Given the description of an element on the screen output the (x, y) to click on. 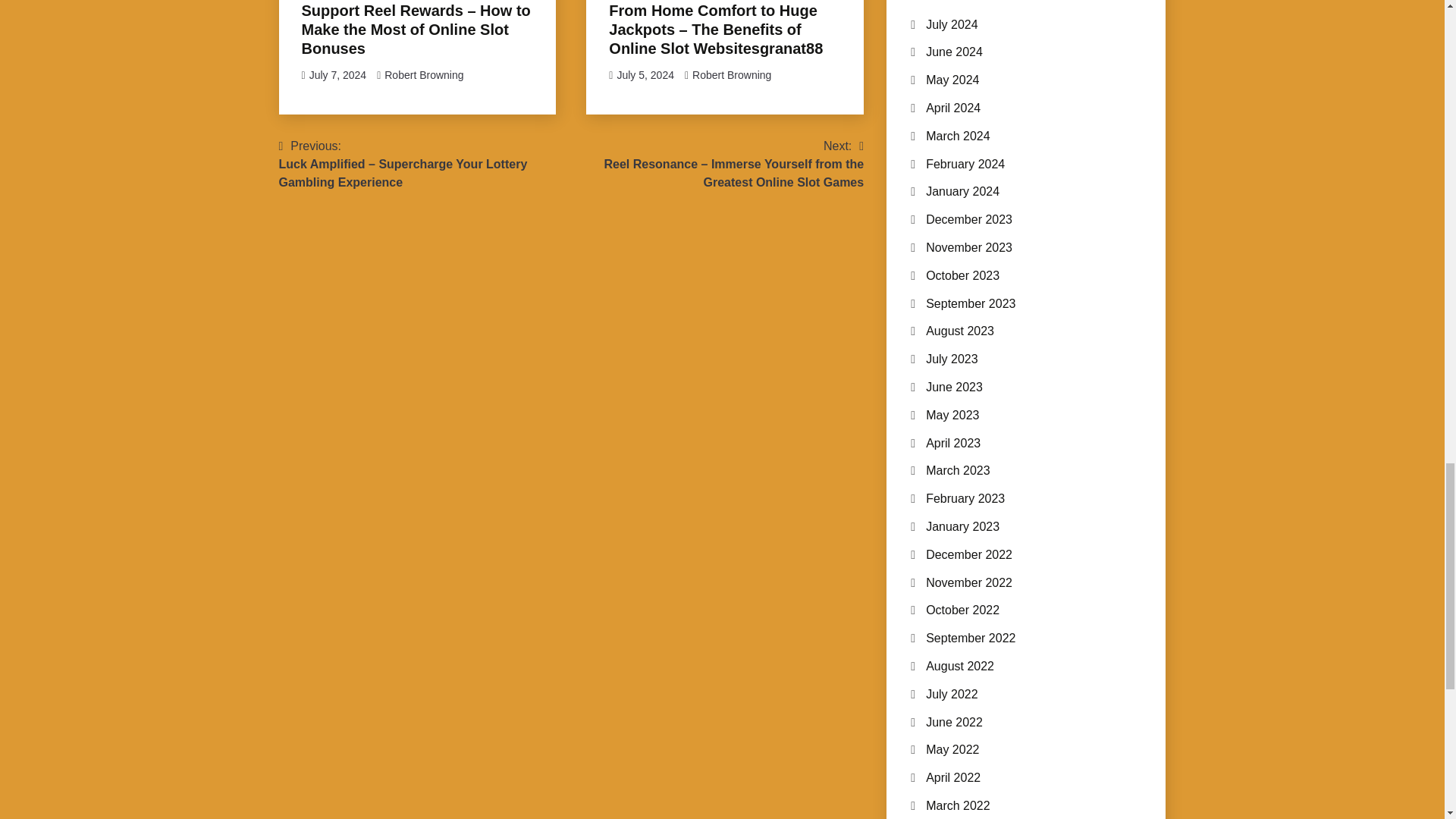
July 7, 2024 (337, 74)
Robert Browning (732, 74)
July 5, 2024 (644, 74)
Robert Browning (423, 74)
